Given the description of an element on the screen output the (x, y) to click on. 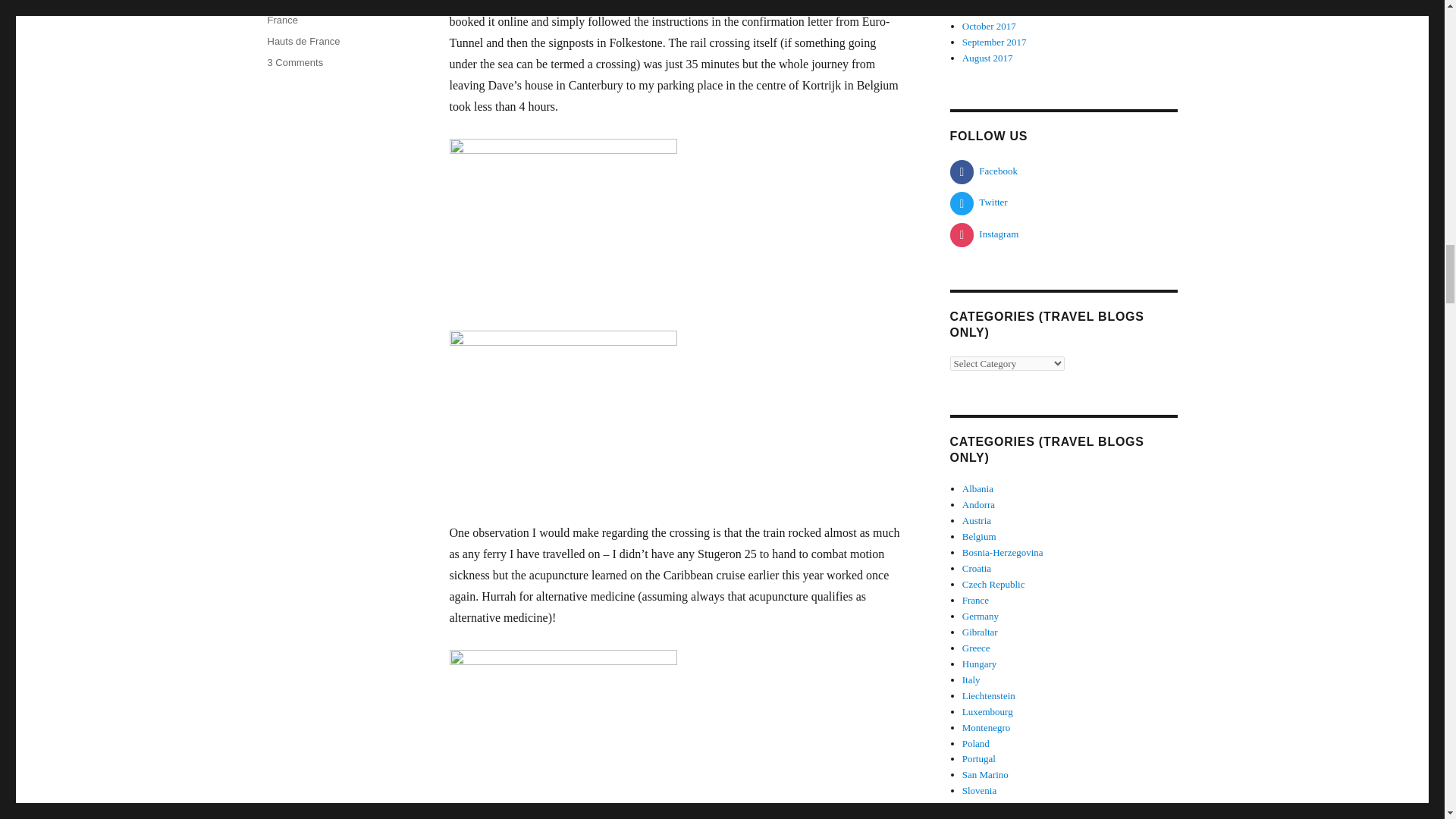
Twitter (978, 202)
Facebook (982, 170)
Instagram (983, 233)
